Given the description of an element on the screen output the (x, y) to click on. 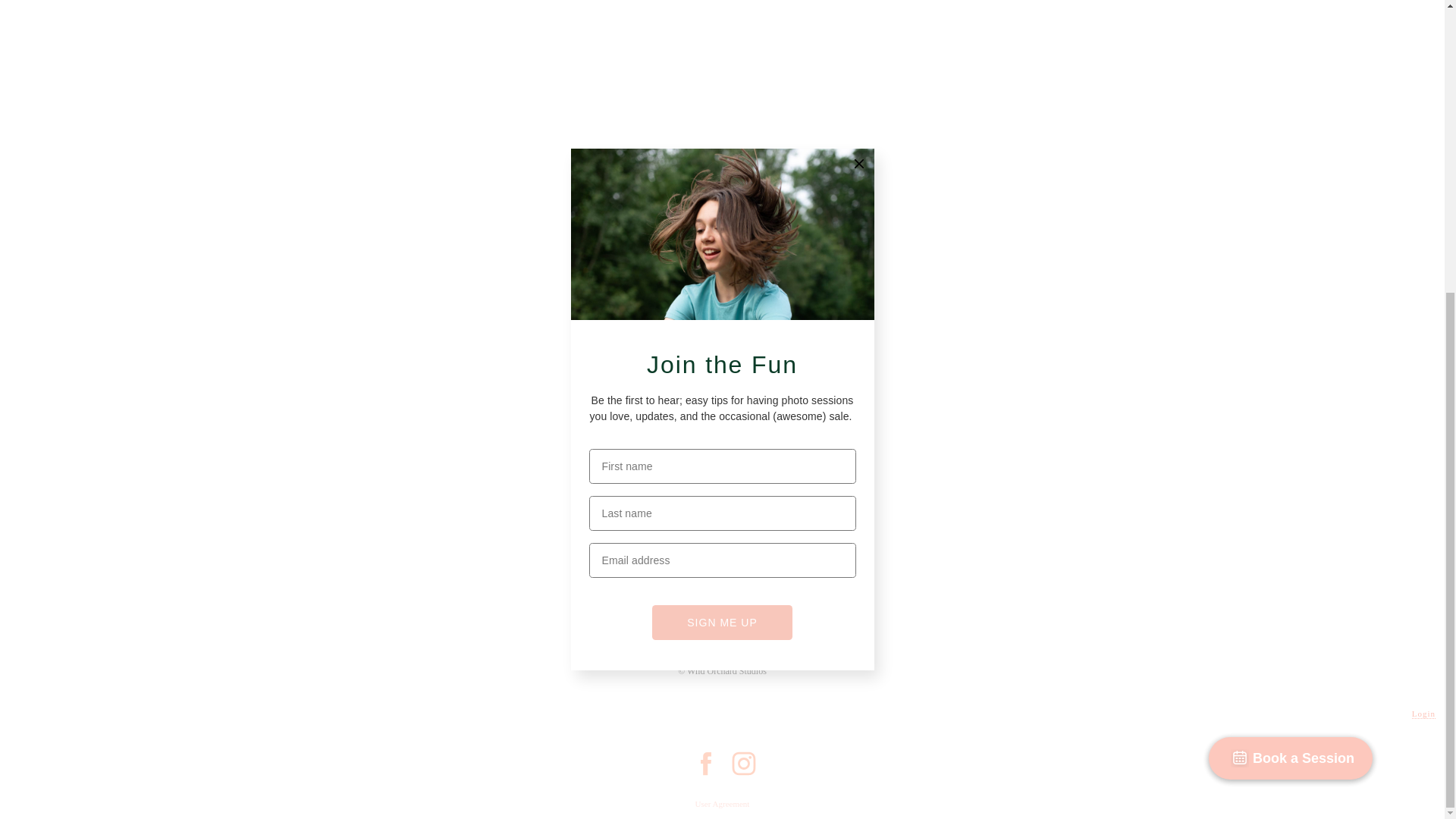
Login (1423, 714)
User Agreement (722, 803)
